Given the description of an element on the screen output the (x, y) to click on. 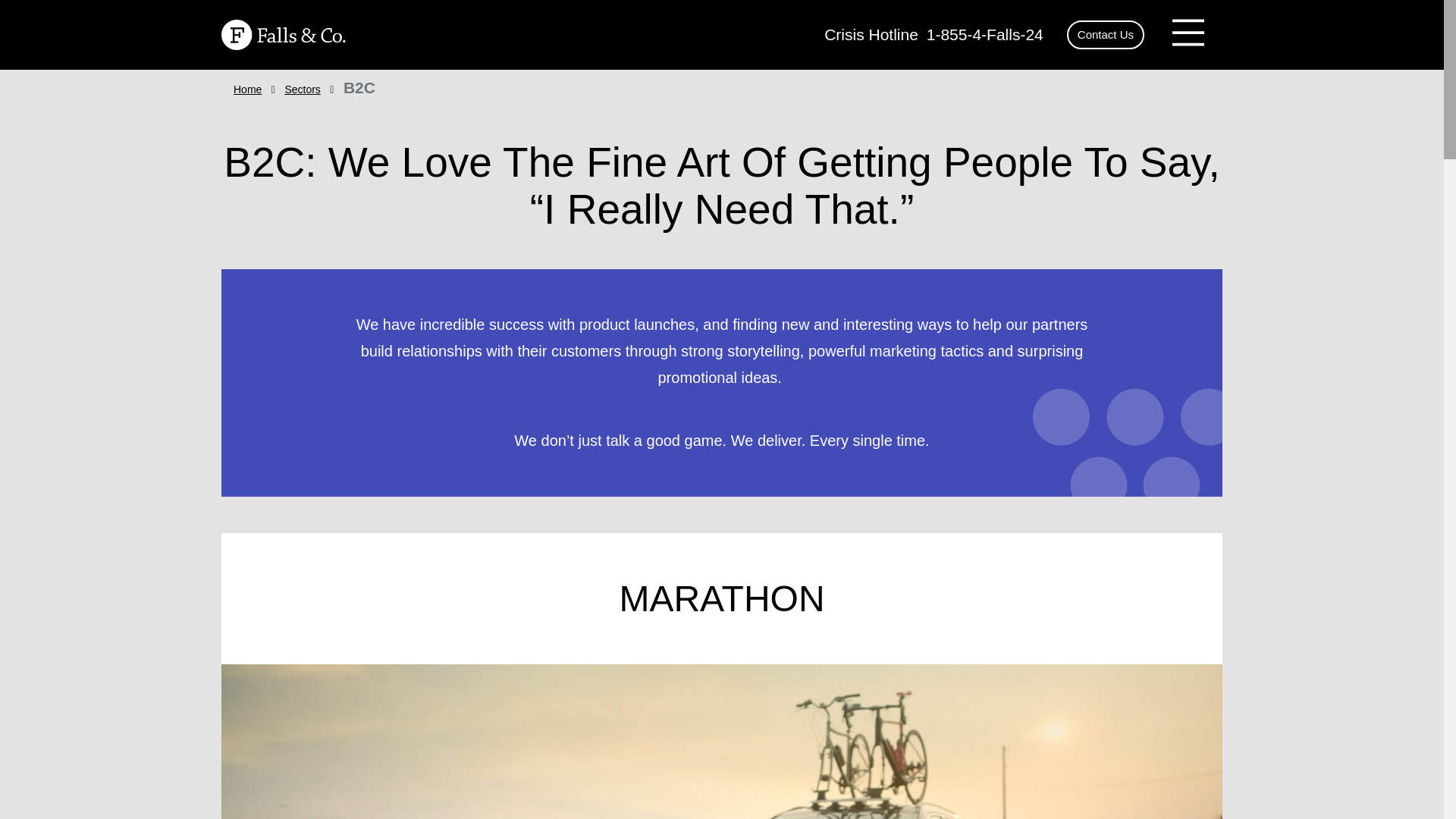
Sectors (301, 89)
Contact Us (1105, 34)
Home (247, 89)
1-855-4-Falls-24 (983, 34)
